Given the description of an element on the screen output the (x, y) to click on. 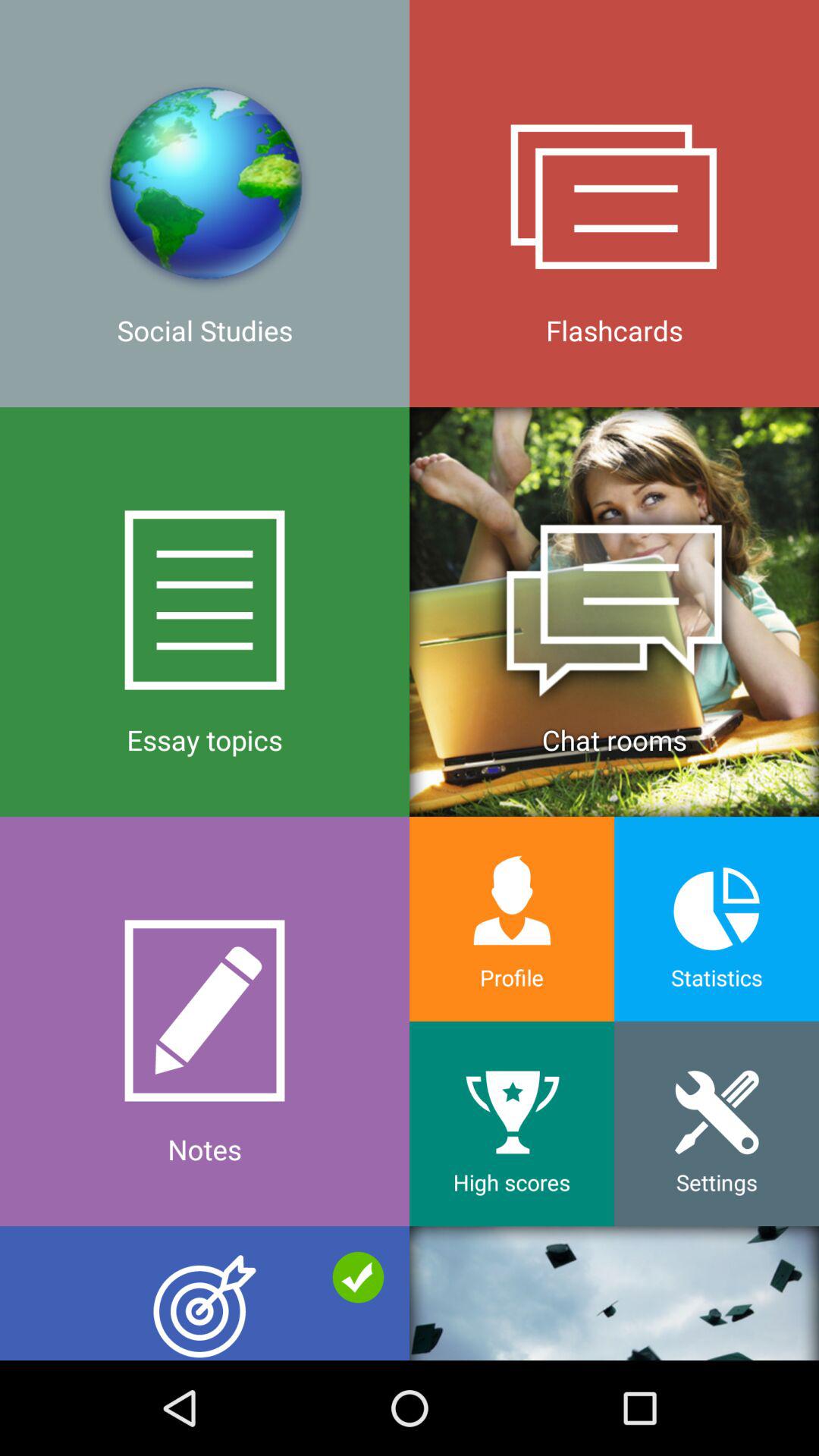
turn on the profile (511, 918)
